Given the description of an element on the screen output the (x, y) to click on. 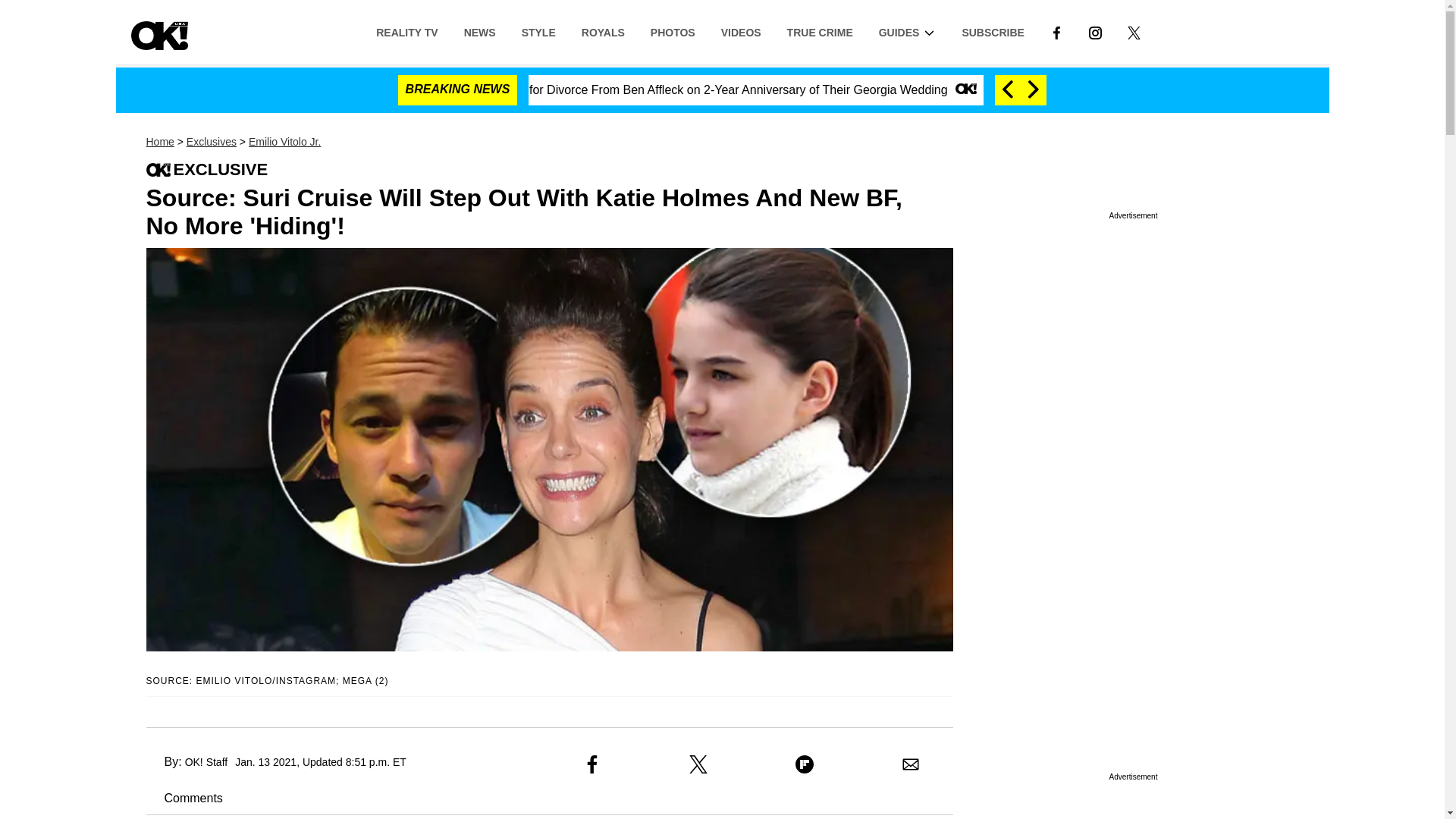
3rd party ad content (1132, 314)
LINK TO X (1133, 32)
TRUE CRIME (820, 31)
SUBSCRIBE (992, 31)
Link to Facebook (1055, 31)
Share to Email (909, 764)
Share to X (697, 764)
Share to Facebook (590, 764)
VIDEOS (740, 31)
REALITY TV (405, 31)
